Given the description of an element on the screen output the (x, y) to click on. 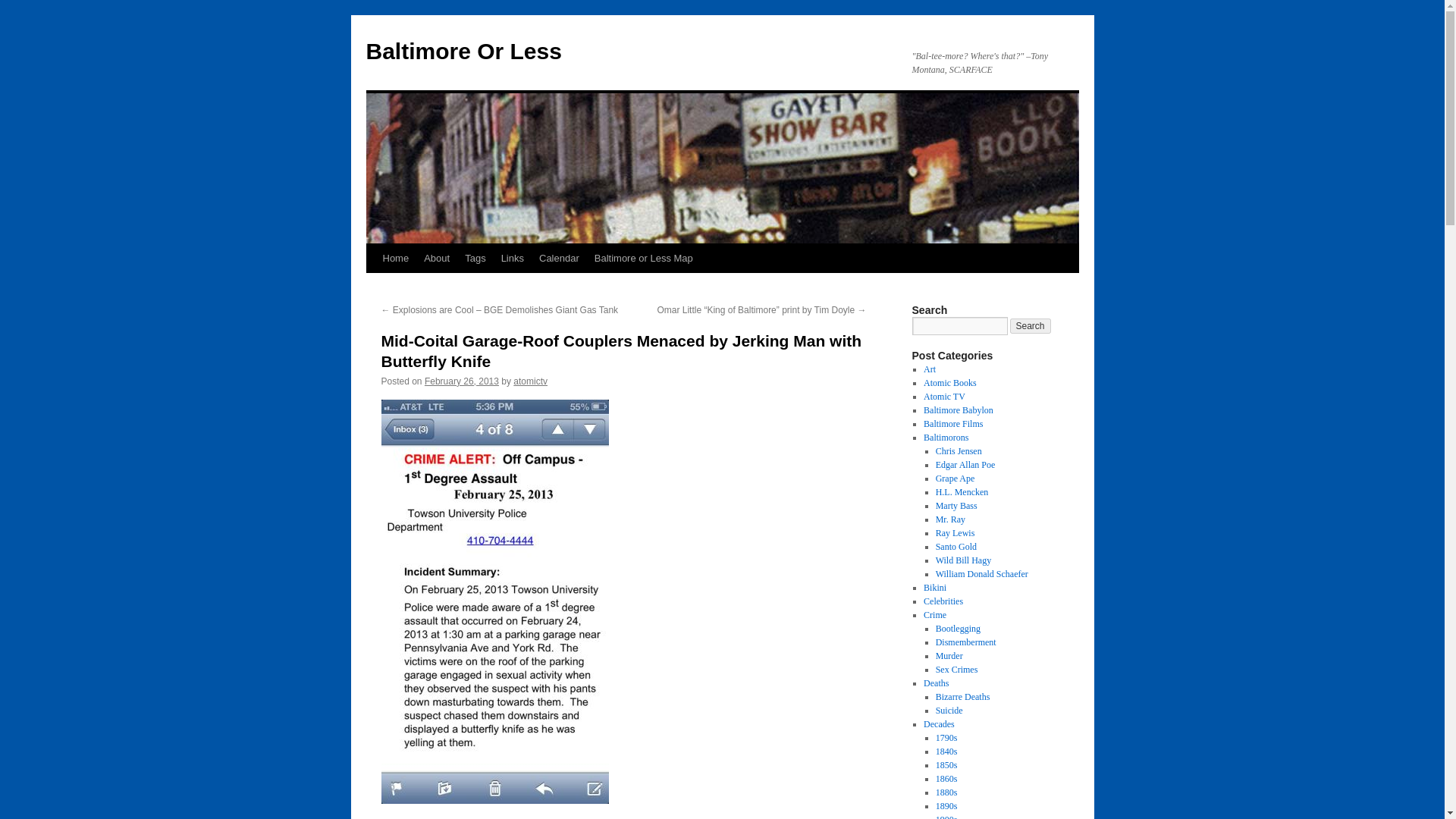
Baltimore Films (952, 423)
About (436, 258)
Home (395, 258)
Baltimore or Less Map (643, 258)
Links (512, 258)
Grape Ape (955, 478)
About (436, 258)
Atomic TV (944, 396)
Search (1030, 325)
Baltimore Or Less (462, 50)
